Given the description of an element on the screen output the (x, y) to click on. 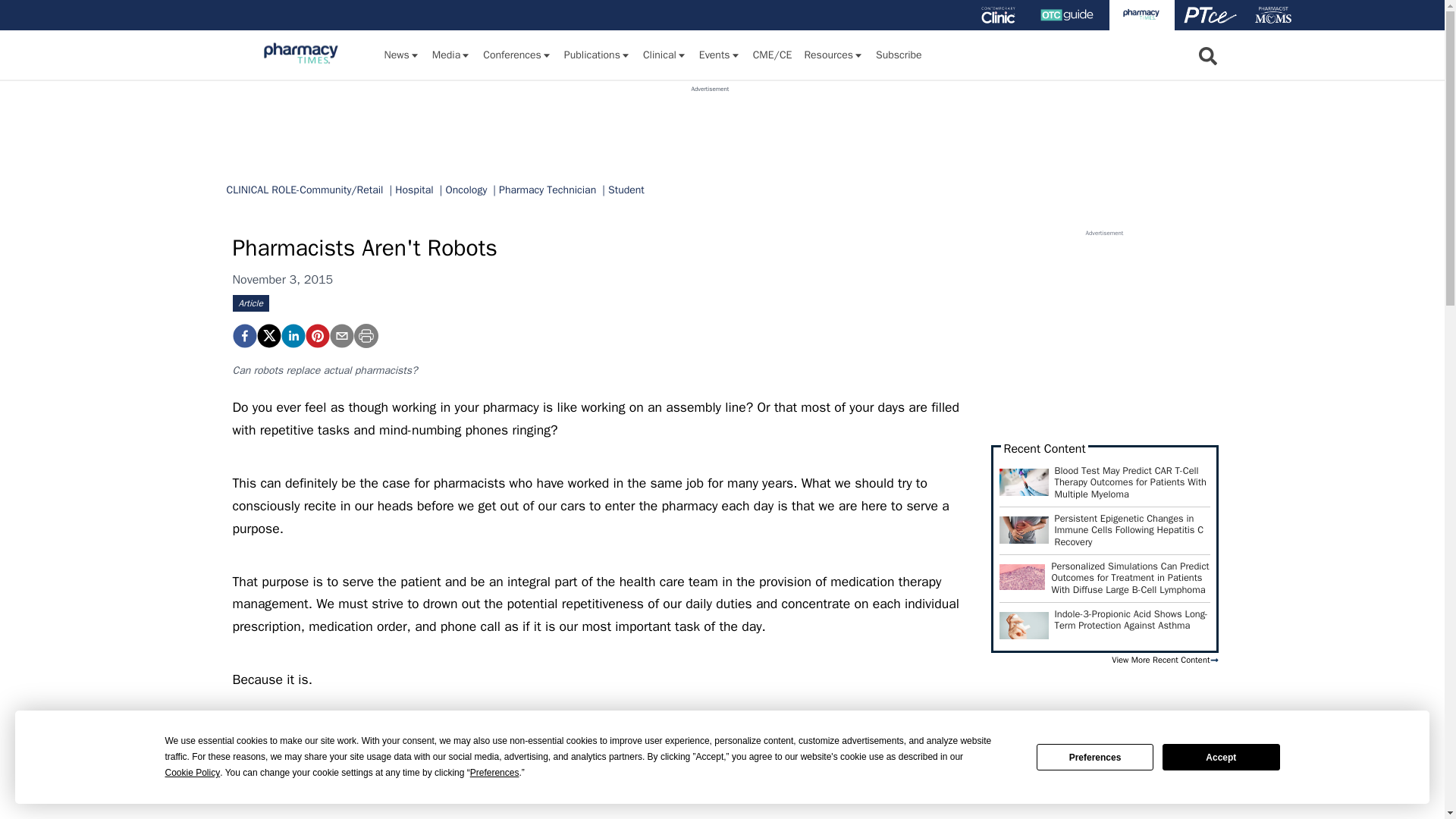
Preferences (494, 772)
Pharmacists Aren't Robots (316, 335)
Cookie Policy (193, 772)
Accept (1220, 756)
Pharmacists Aren't Robots (243, 335)
3rd party ad content (709, 127)
Preferences (1094, 756)
